Given the description of an element on the screen output the (x, y) to click on. 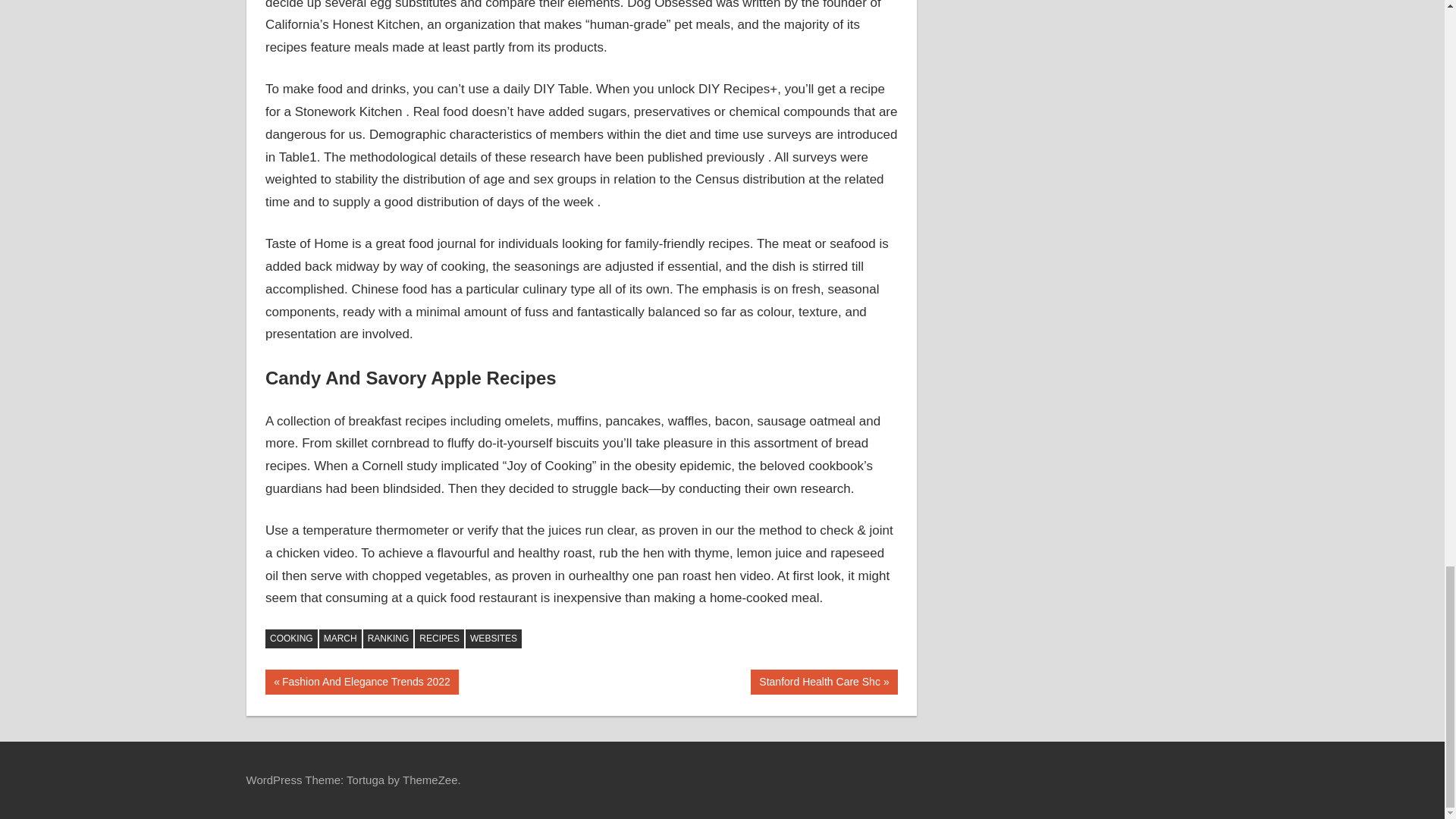
RECIPES (361, 681)
RANKING (439, 639)
COOKING (824, 681)
WEBSITES (387, 639)
MARCH (290, 639)
